Given the description of an element on the screen output the (x, y) to click on. 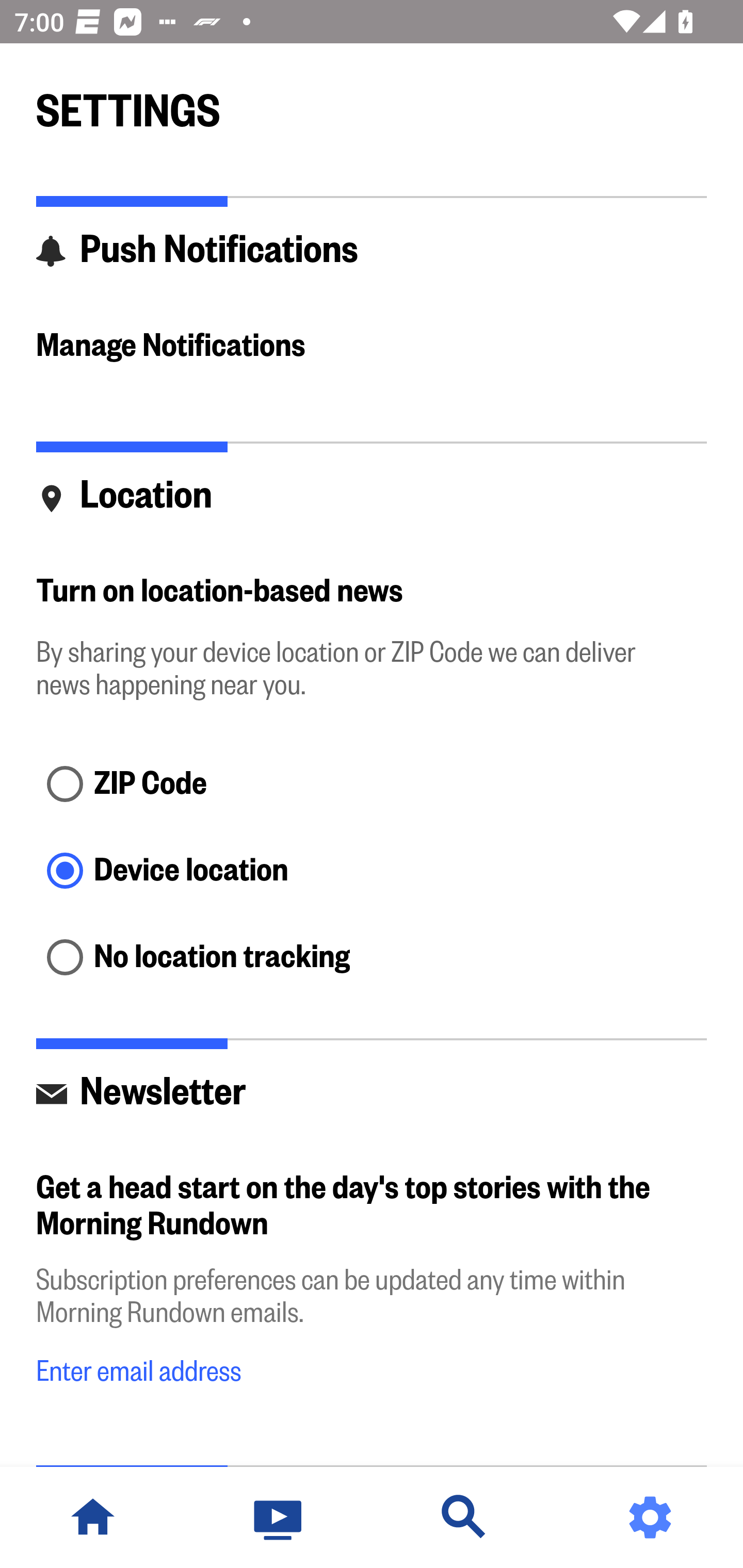
SETTINGS (371, 101)
Manage Notifications (371, 346)
ZIP Code (371, 785)
Device location (371, 872)
No location tracking (371, 958)
NBC News Home (92, 1517)
Watch (278, 1517)
Discover (464, 1517)
